Given the description of an element on the screen output the (x, y) to click on. 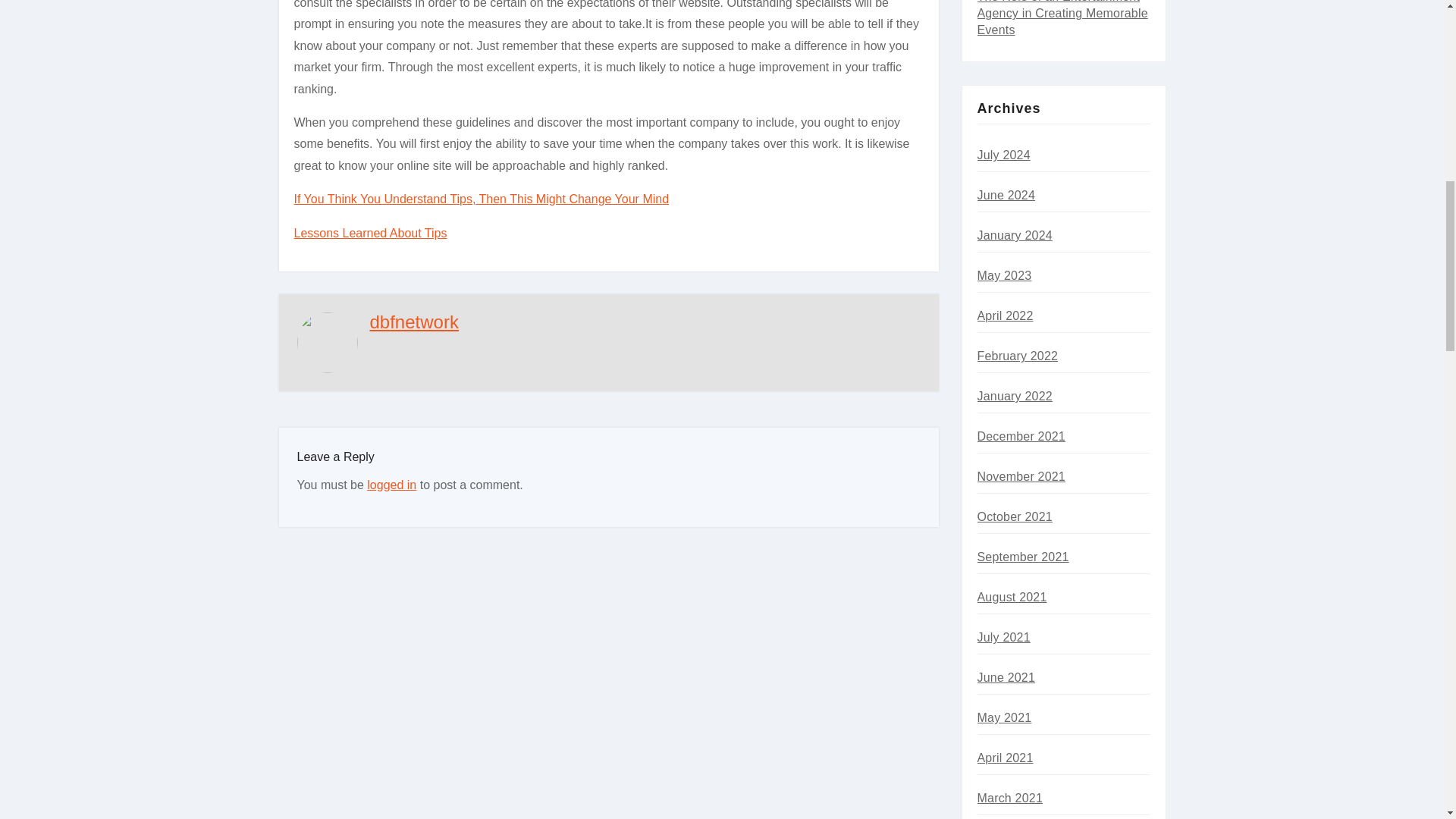
logged in (391, 484)
November 2021 (1020, 476)
July 2024 (1002, 154)
dbfnetwork (413, 322)
February 2022 (1017, 355)
October 2021 (1013, 516)
May 2023 (1003, 275)
May 2021 (1003, 717)
January 2024 (1013, 235)
Lessons Learned About Tips (370, 232)
January 2022 (1013, 395)
June 2021 (1005, 676)
August 2021 (1011, 596)
April 2022 (1004, 315)
